Given the description of an element on the screen output the (x, y) to click on. 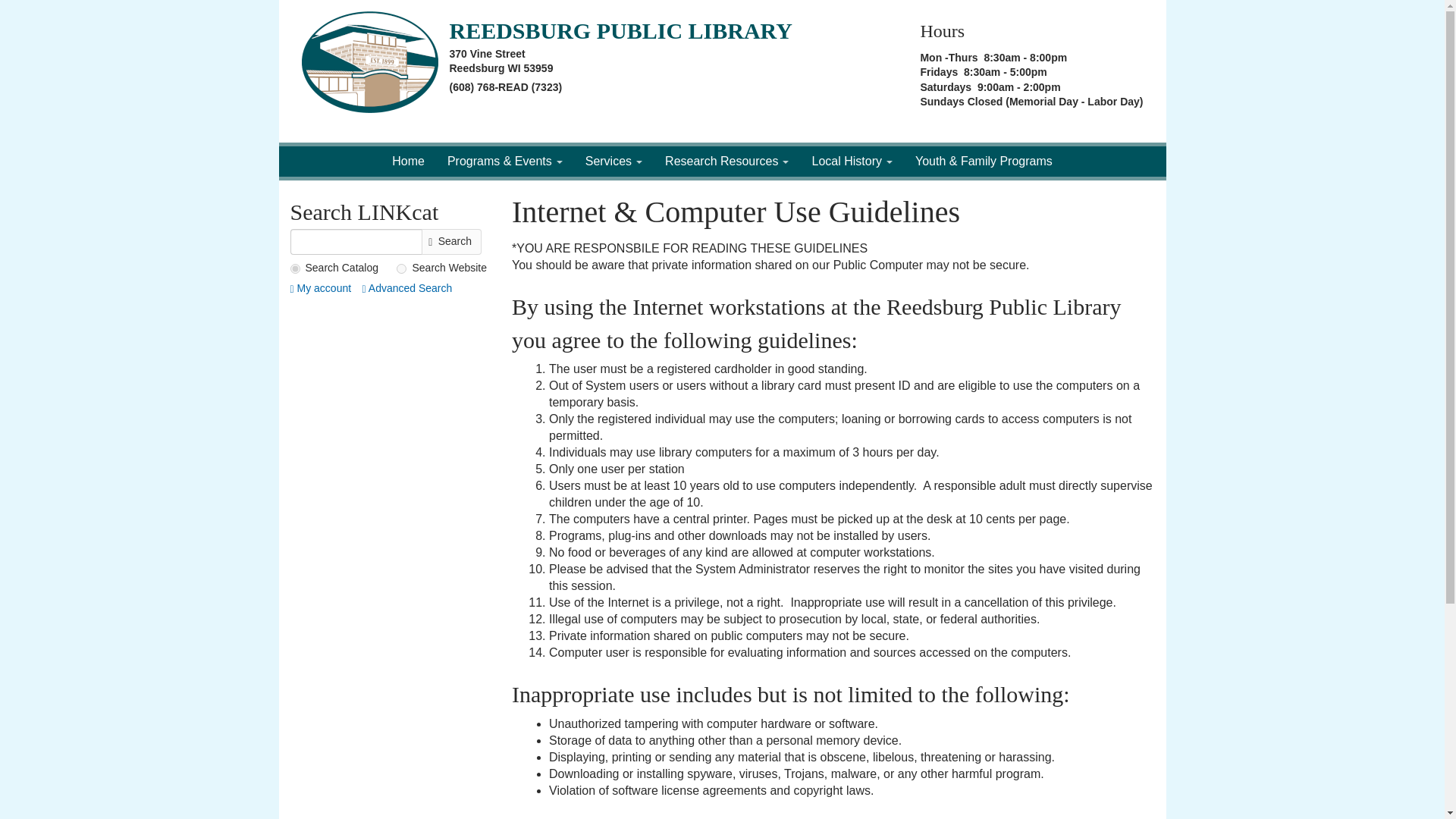
Advanced Search (407, 287)
Home (375, 62)
Enter the terms you wish to search for. (354, 241)
Home (407, 161)
REEDSBURG PUBLIC LIBRARY (620, 30)
My account (319, 287)
Search (451, 241)
